Given the description of an element on the screen output the (x, y) to click on. 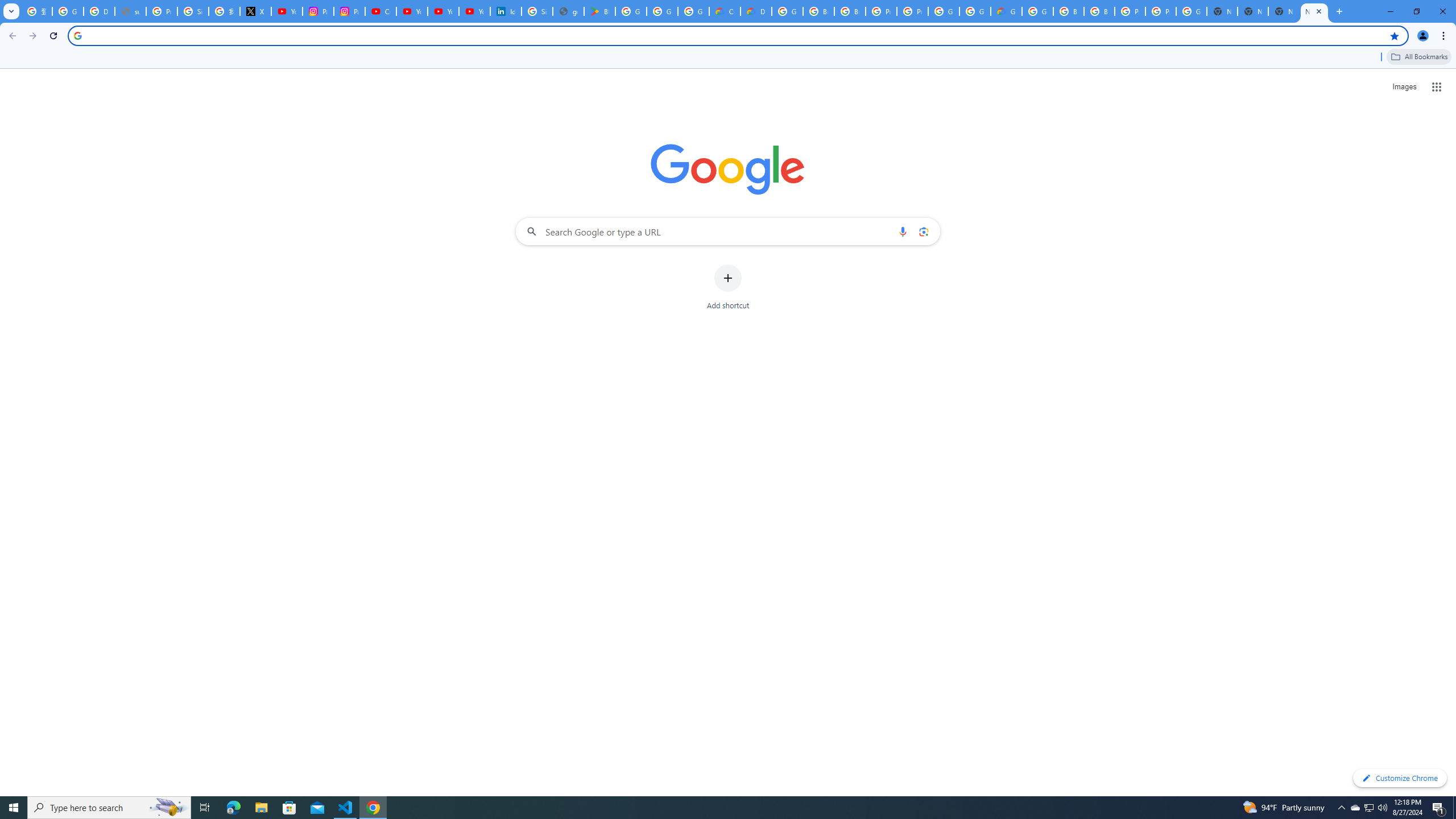
X (255, 11)
Browse Chrome as a guest - Computer - Google Chrome Help (818, 11)
YouTube Content Monetization Policies - How YouTube Works (286, 11)
Bluey: Let's Play! - Apps on Google Play (599, 11)
Google Cloud Platform (1037, 11)
